Given the description of an element on the screen output the (x, y) to click on. 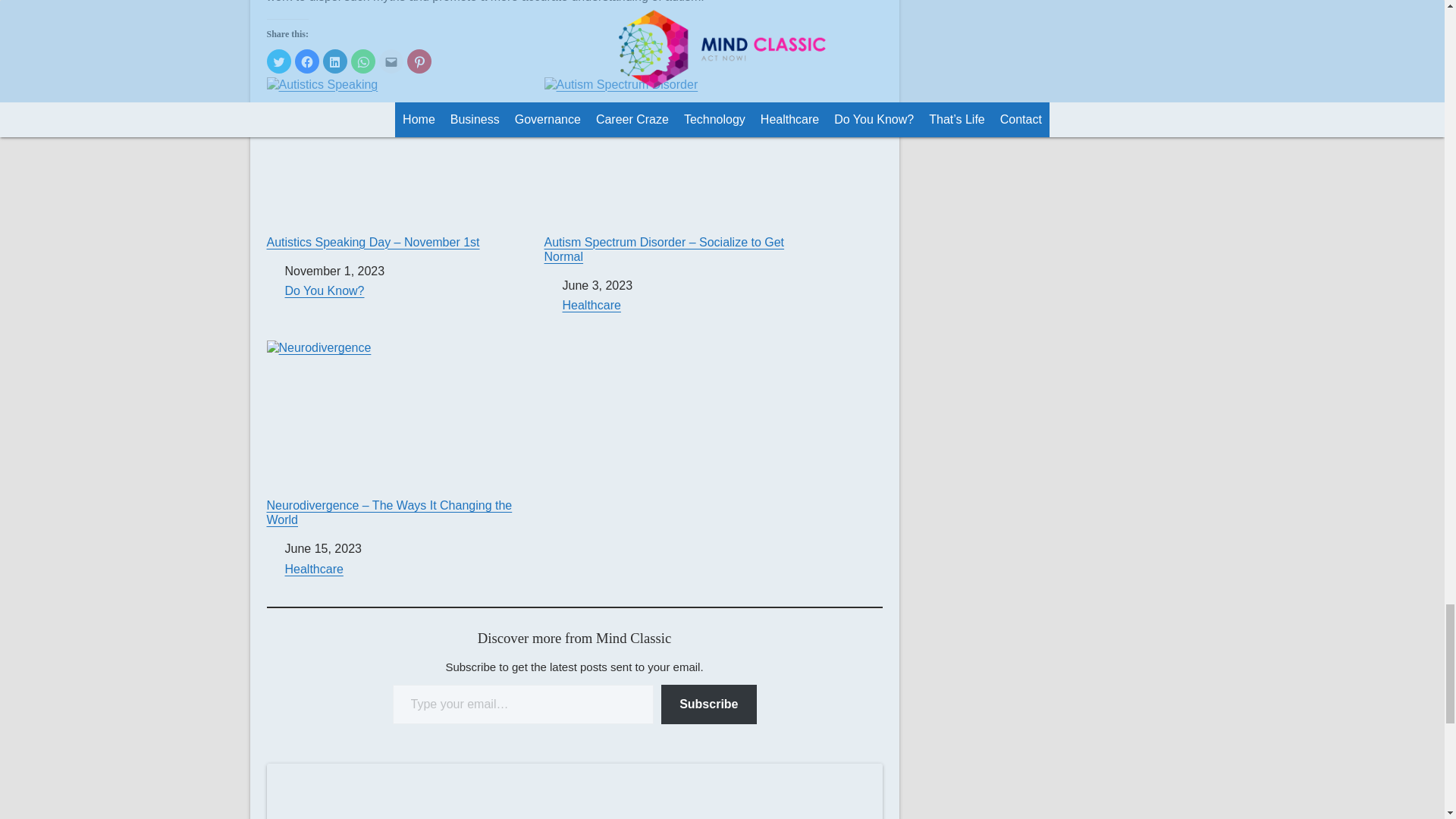
Please fill in this field. (523, 704)
Click to share on Facebook (306, 61)
Click to share on Email (390, 61)
Click to share on Twitter (278, 61)
Click to share on WhatsApp (362, 61)
Click to share on Pinterest (418, 61)
Click to share on LinkedIn (335, 61)
